Given the description of an element on the screen output the (x, y) to click on. 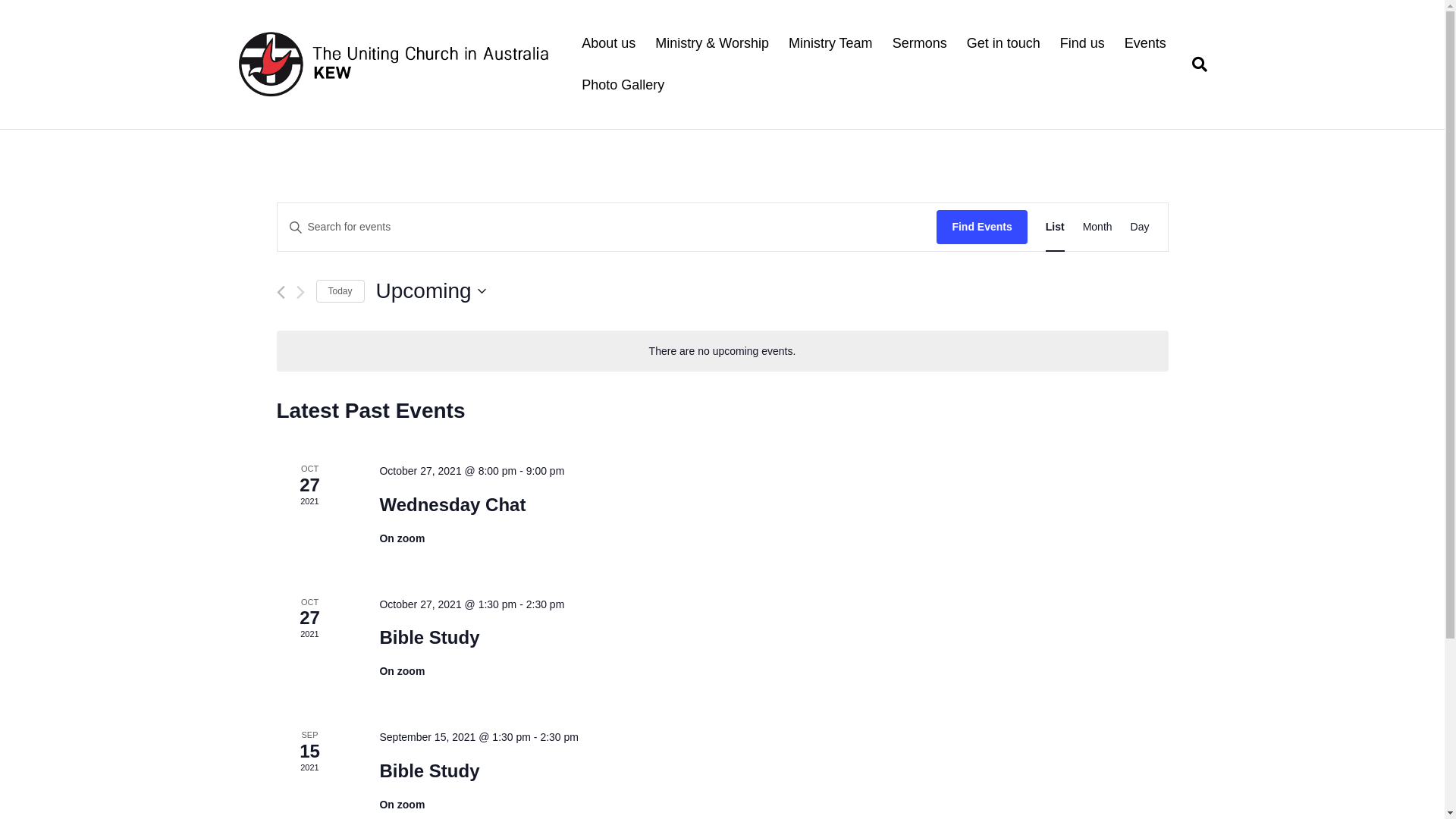
Bible Study Element type: text (429, 637)
Find us Element type: text (1082, 43)
Next Events Element type: hover (299, 292)
Ministry Team Element type: text (830, 43)
Wednesday Chat Element type: text (452, 504)
Bible Study Element type: text (429, 770)
Photo Gallery Element type: text (622, 85)
Ministry & Worship Element type: text (711, 43)
Events Element type: text (1145, 43)
Get in touch Element type: text (1003, 43)
Today Element type: text (339, 291)
Find Events Element type: text (981, 227)
Upcoming Element type: text (431, 291)
Previous Events Element type: hover (280, 292)
Day Element type: text (1139, 227)
List Element type: text (1054, 227)
About us Element type: text (608, 43)
Sermons Element type: text (919, 43)
Month Element type: text (1097, 227)
